Given the description of an element on the screen output the (x, y) to click on. 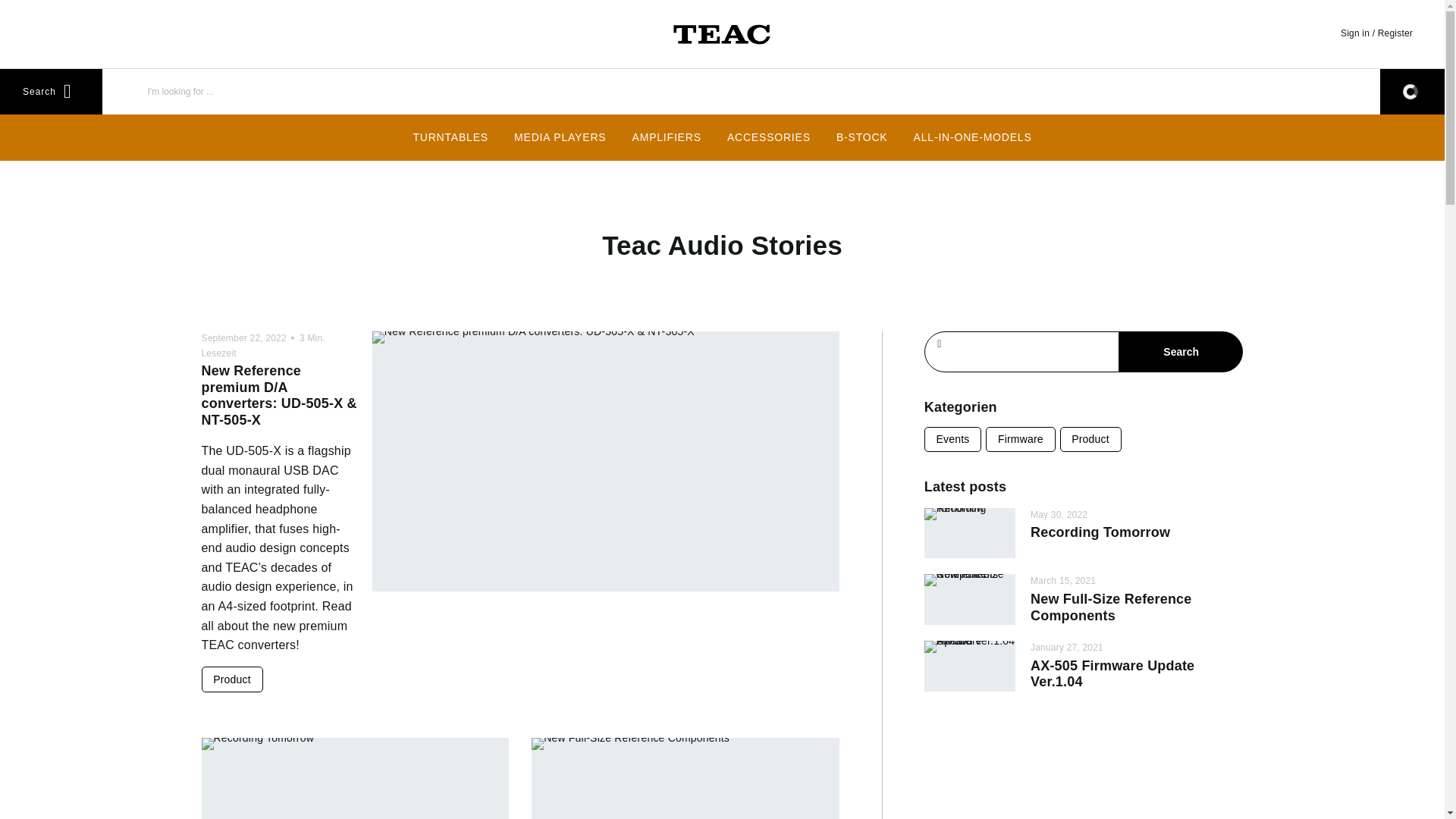
All-in-one-Models (972, 136)
ACCESSORIES (769, 136)
ALL-IN-ONE-MODELS (972, 136)
Product (232, 679)
B-Stock (862, 136)
AMPLIFIERS (667, 136)
Amplifiers (667, 136)
MEDIA PLAYERS (559, 136)
Accessories (769, 136)
Search (62, 91)
